Given the description of an element on the screen output the (x, y) to click on. 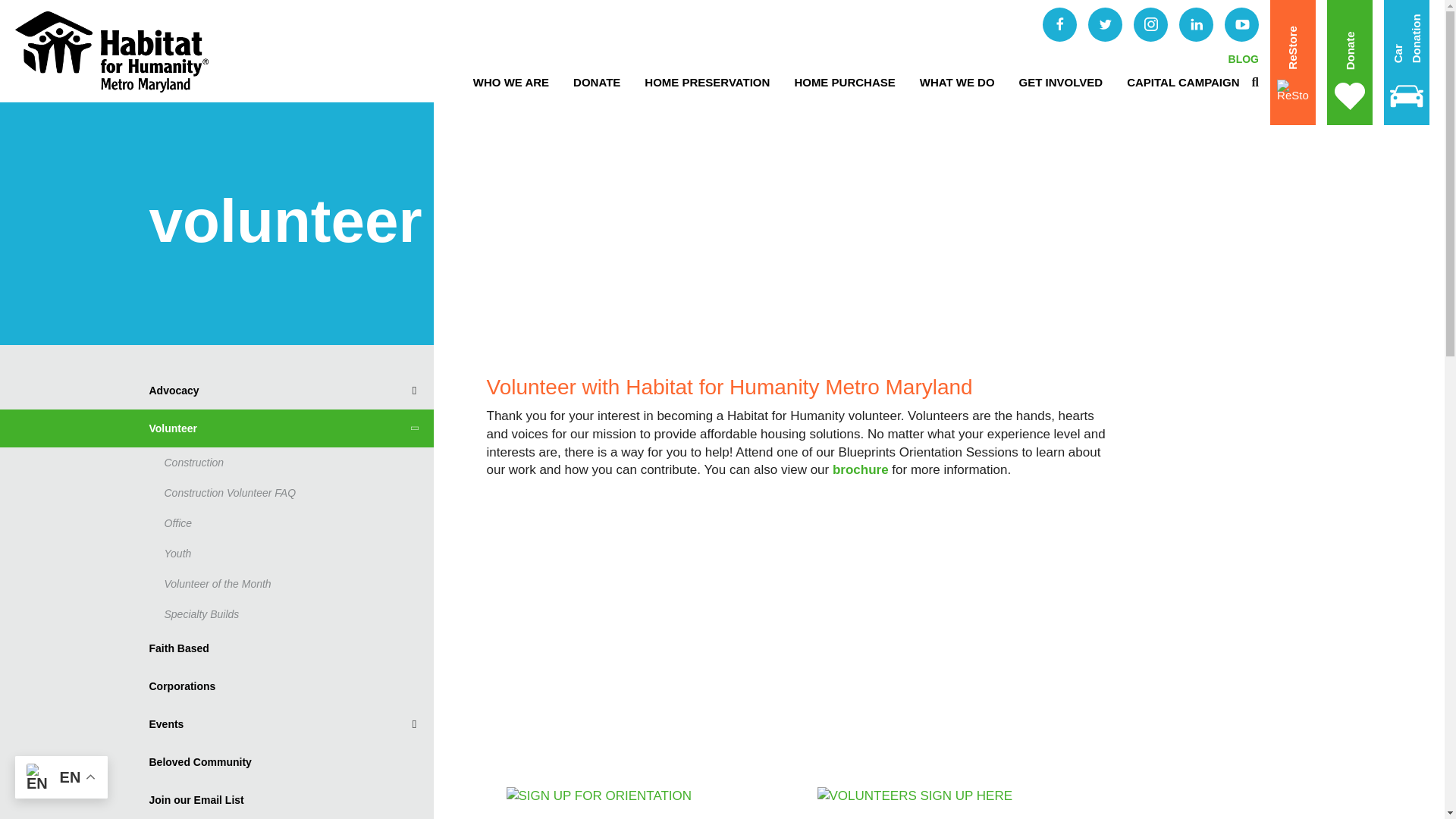
"Why We Love Habitat Metro Maryland"- Property Brothers (714, 621)
DONATE (595, 81)
BLOG (1243, 59)
WHO WE ARE (510, 81)
HOME PRESERVATION (706, 81)
